Given the description of an element on the screen output the (x, y) to click on. 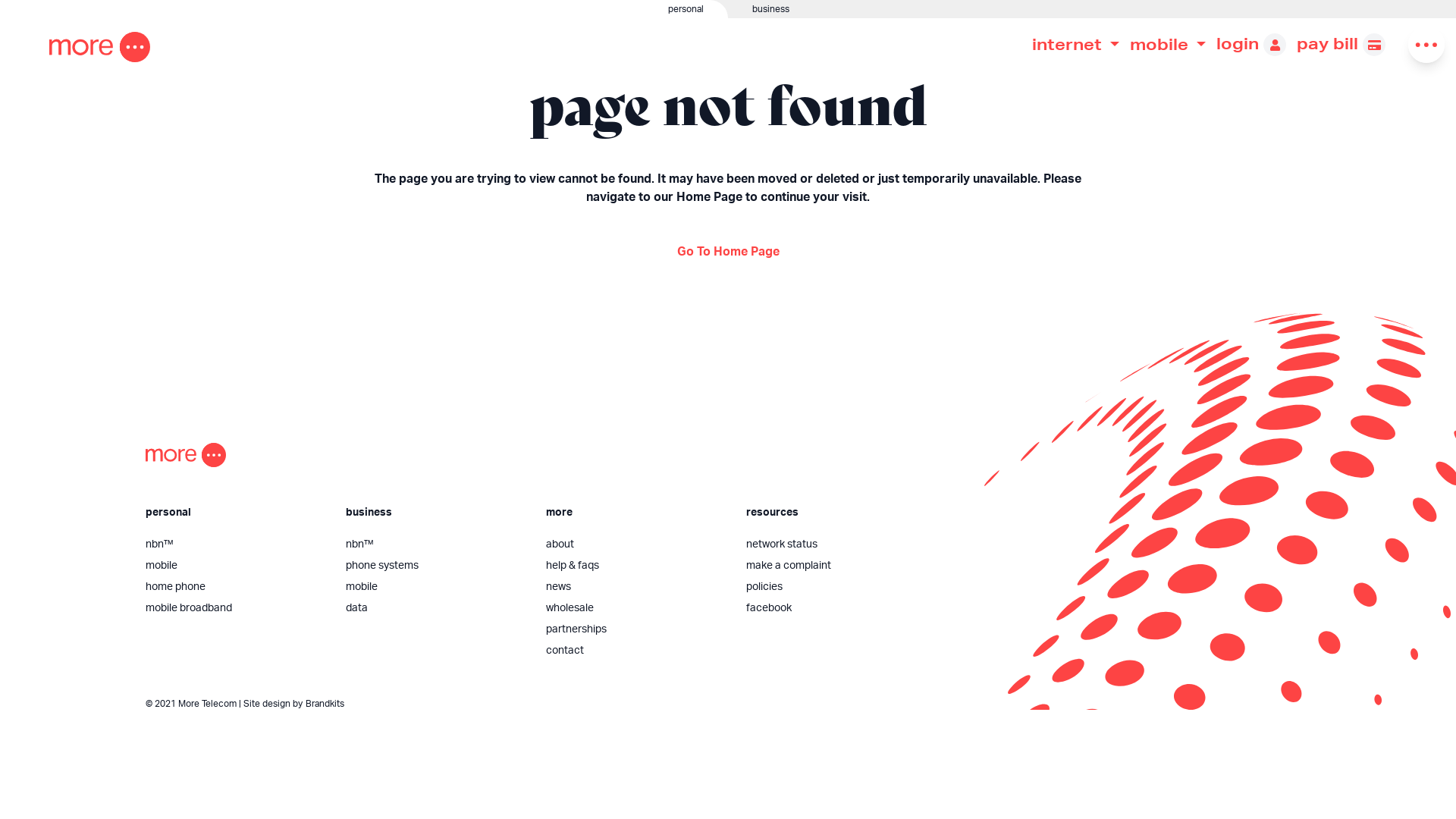
about Element type: text (633, 544)
news Element type: text (633, 586)
home phone Element type: text (233, 586)
contact Element type: text (633, 650)
policies Element type: text (834, 586)
pay bill Element type: text (1340, 43)
mobile Element type: text (433, 586)
make a complaint Element type: text (834, 565)
facebook Element type: text (834, 607)
mobile broadband Element type: text (233, 607)
mobile Element type: text (1167, 43)
personal Element type: text (364, 9)
login Element type: text (1251, 43)
wholesale Element type: text (633, 607)
partnerships Element type: text (633, 629)
Brandkits Element type: text (324, 703)
internet Element type: text (1075, 43)
network status Element type: text (834, 544)
Go To Home Page Element type: text (727, 251)
data Element type: text (433, 607)
help & faqs Element type: text (633, 565)
phone systems Element type: text (433, 565)
mobile Element type: text (233, 565)
